Given the description of an element on the screen output the (x, y) to click on. 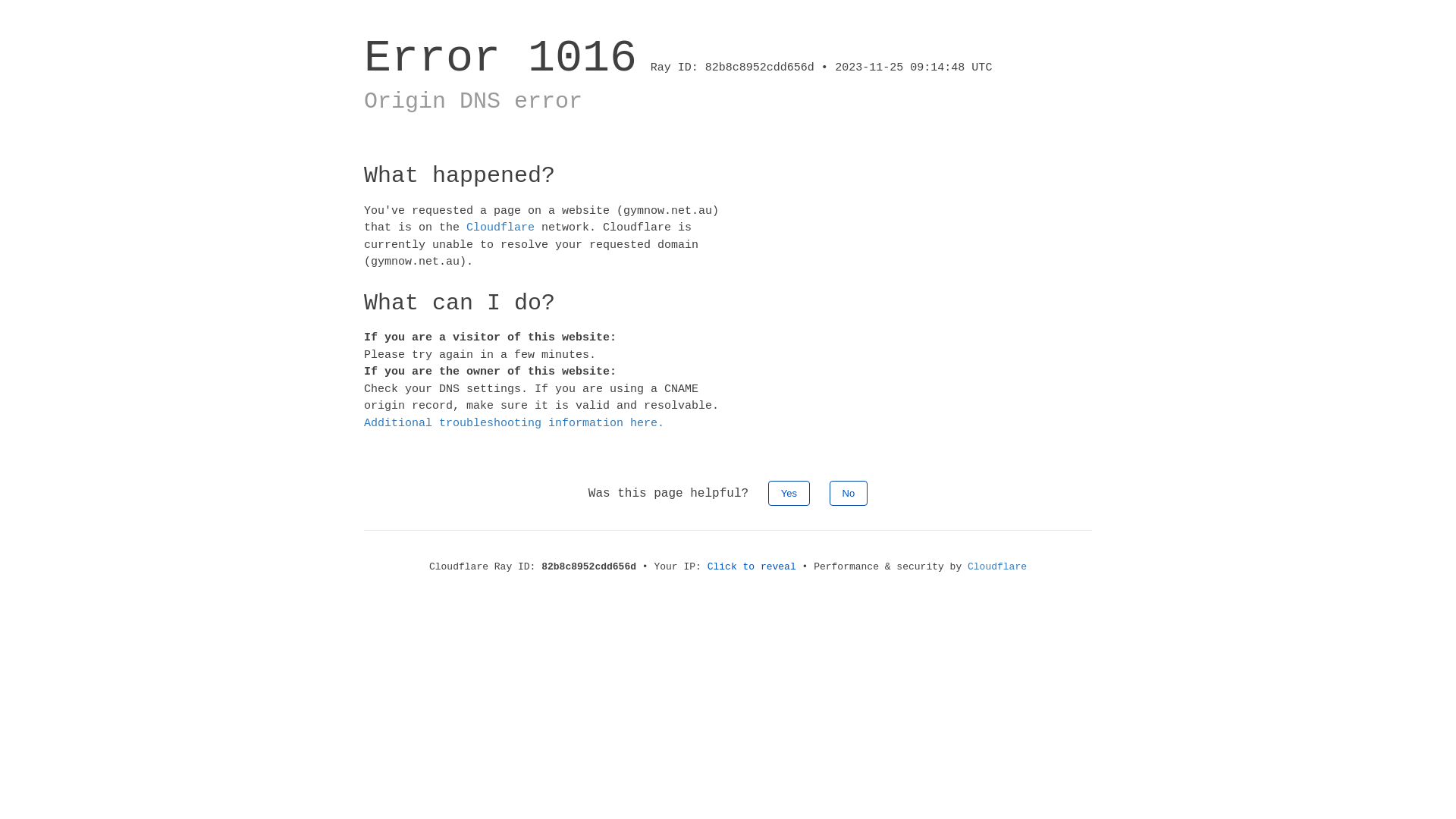
Yes Element type: text (788, 492)
No Element type: text (848, 492)
Click to reveal Element type: text (751, 566)
Additional troubleshooting information here. Element type: text (514, 423)
Cloudflare Element type: text (996, 566)
Cloudflare Element type: text (500, 227)
